Given the description of an element on the screen output the (x, y) to click on. 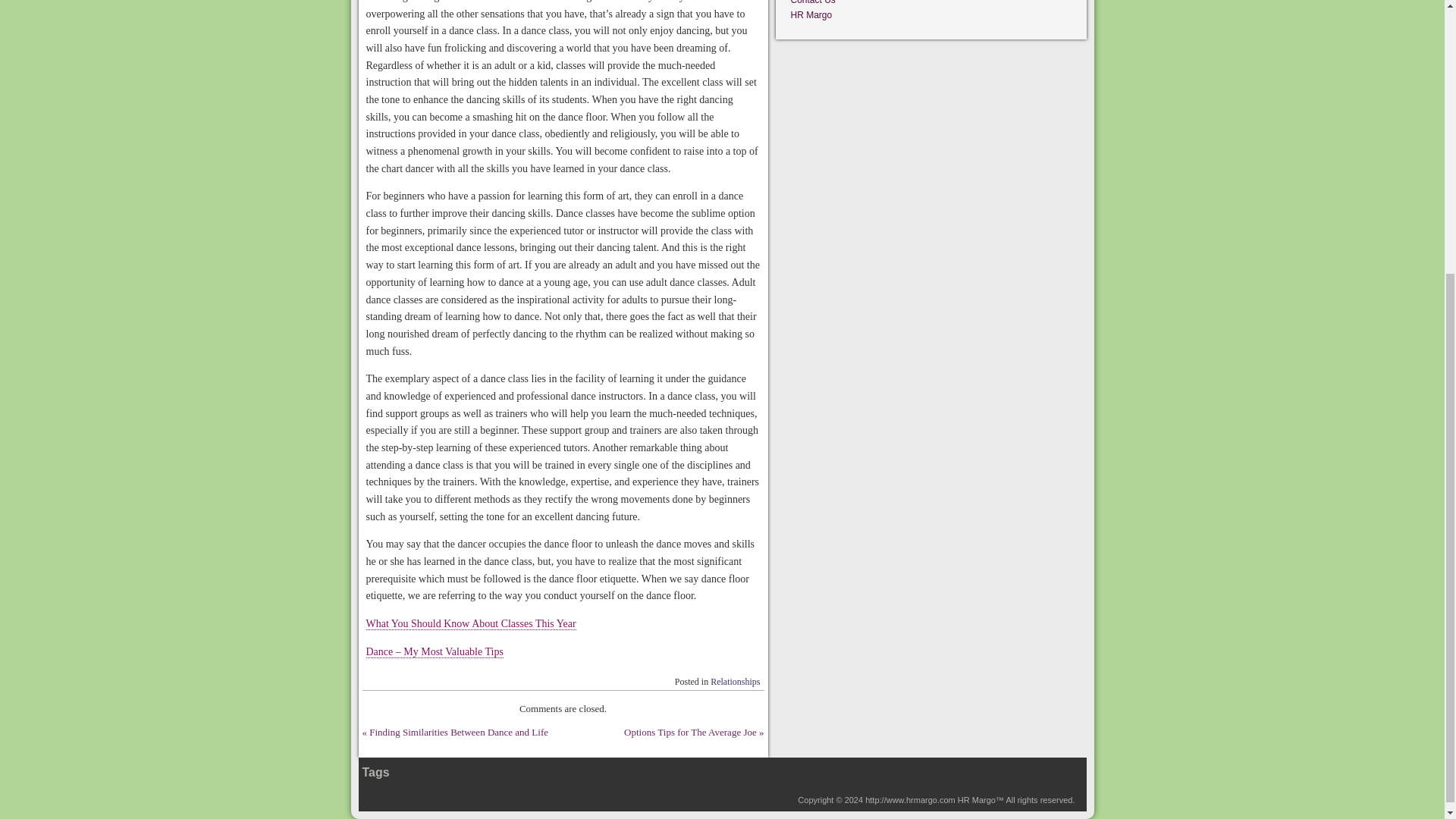
Contact Us (812, 2)
Finding Similarities Between Dance and Life (458, 731)
Options Tips for The Average Joe (690, 731)
Relationships (735, 681)
What You Should Know About Classes This Year (470, 623)
HR Margo (810, 14)
